Given the description of an element on the screen output the (x, y) to click on. 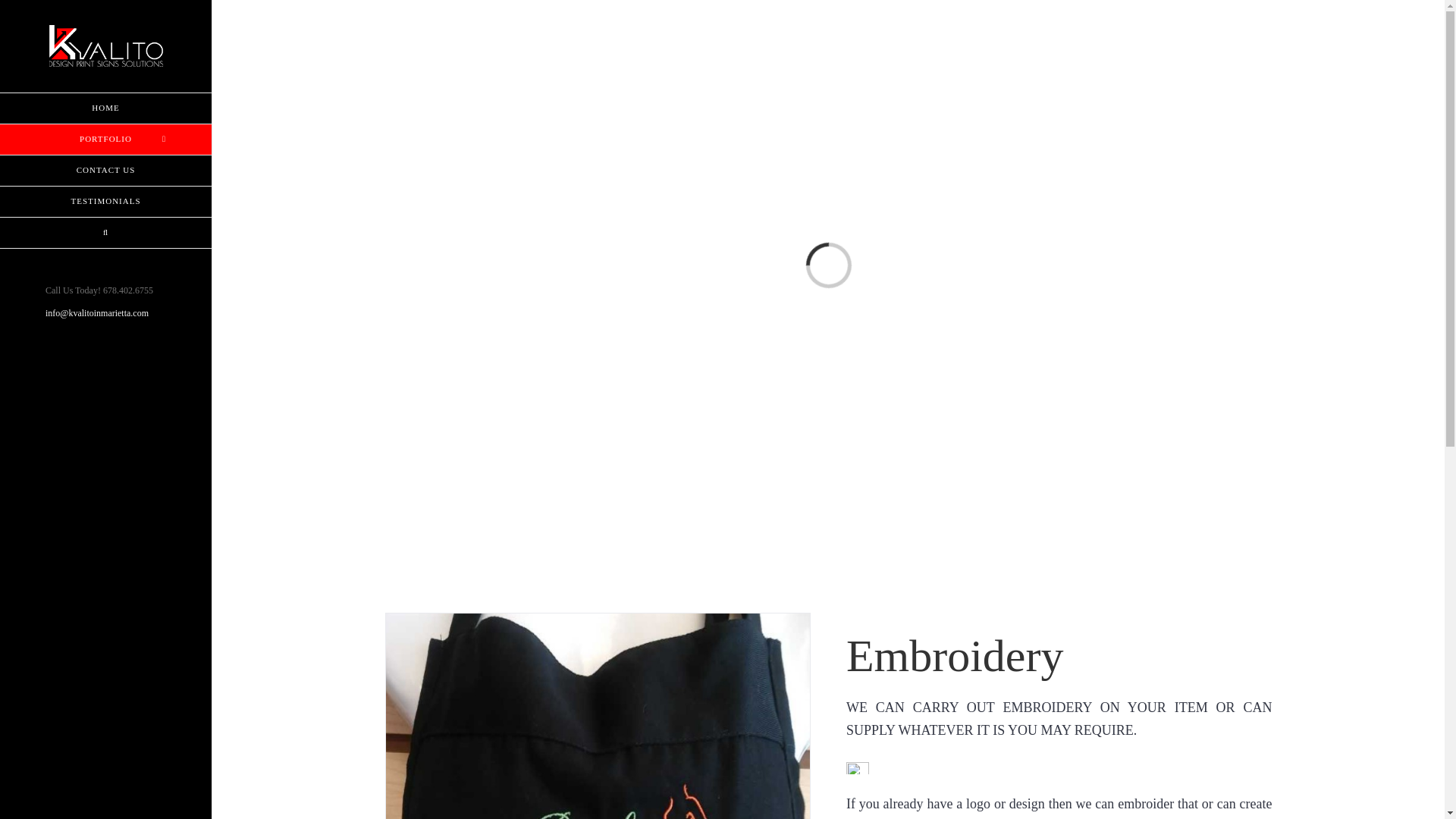
divide (857, 767)
Search (105, 232)
PORTFOLIO (105, 139)
HOME (105, 108)
